Given the description of an element on the screen output the (x, y) to click on. 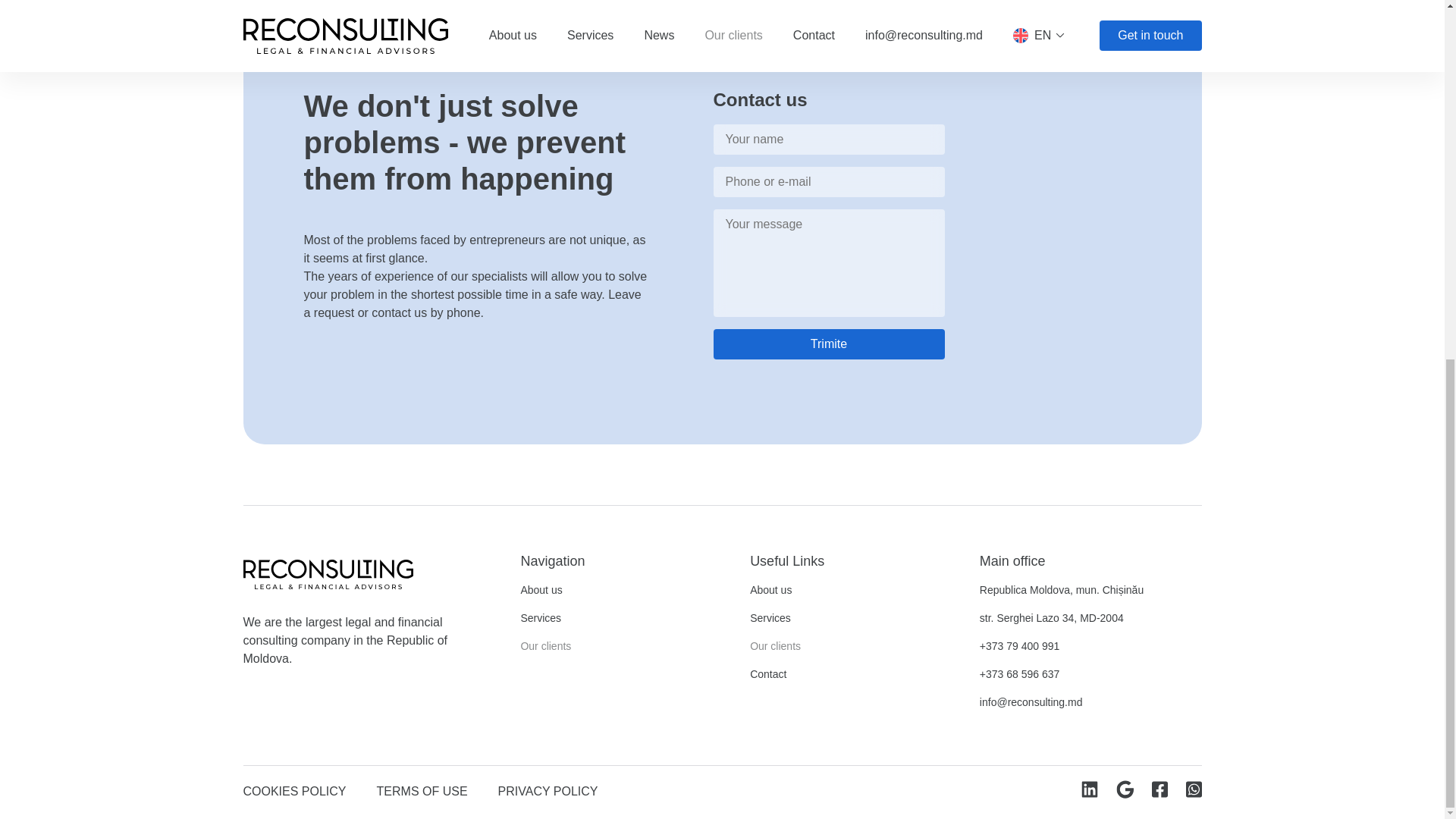
Services (769, 618)
Our clients (774, 646)
Trimite (828, 344)
Trimite (828, 344)
COOKIES POLICY (294, 790)
TERMS OF USE (422, 790)
Contact (767, 674)
str. Serghei Lazo 34, MD-2004 (1051, 618)
About us (540, 590)
About us (770, 590)
